Given the description of an element on the screen output the (x, y) to click on. 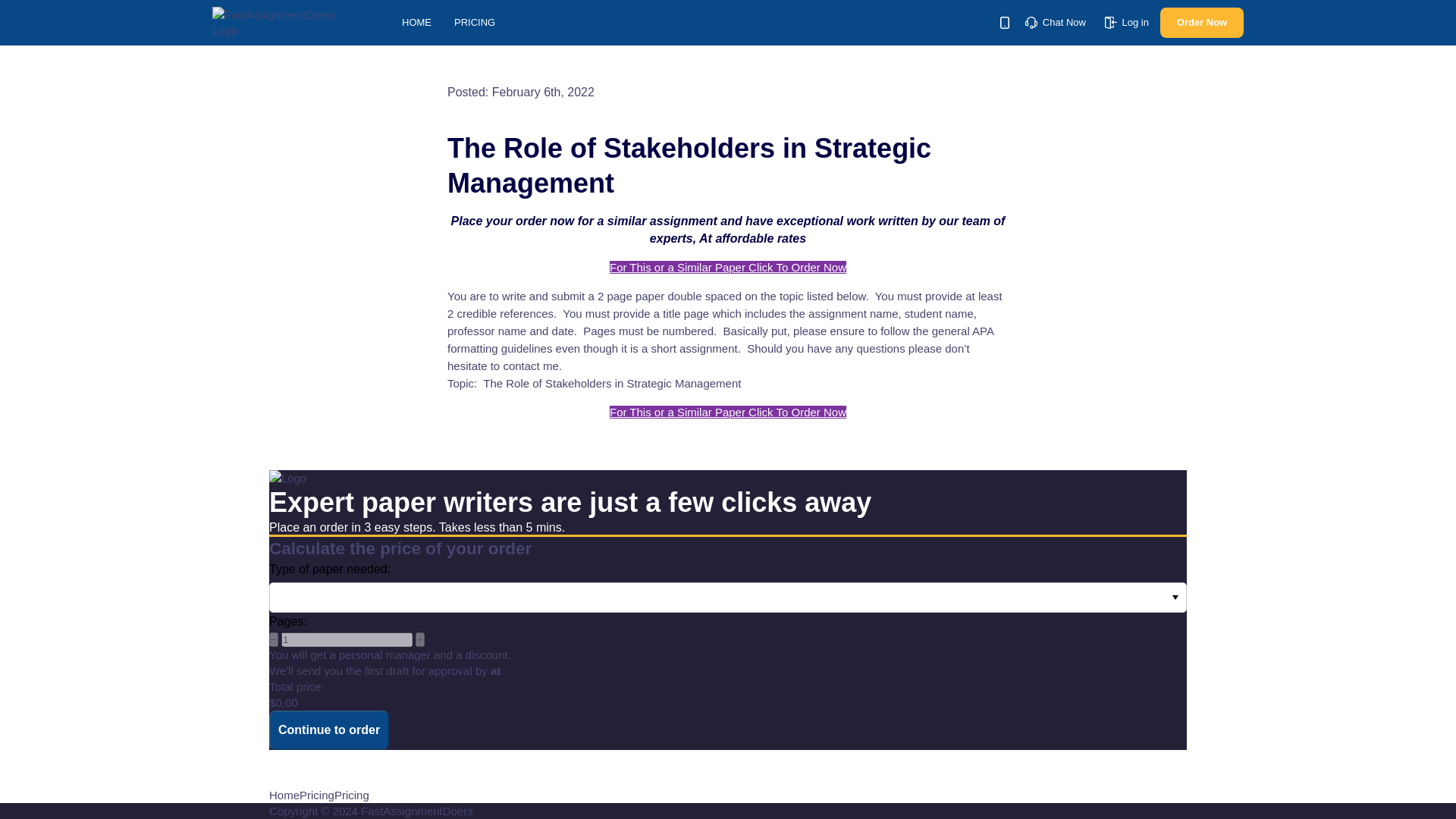
For This or a Similar Paper Click To Order Now (727, 411)
Order Now (1201, 22)
HOME (415, 21)
Pricing (316, 794)
Pricing (351, 794)
Continue to order (328, 730)
1 (346, 639)
PRICING (474, 21)
Log in (1126, 21)
Chat Now (1055, 21)
Continue to Order (328, 730)
Home (284, 794)
For This or a Similar Paper Click To Order Now (727, 267)
